Given the description of an element on the screen output the (x, y) to click on. 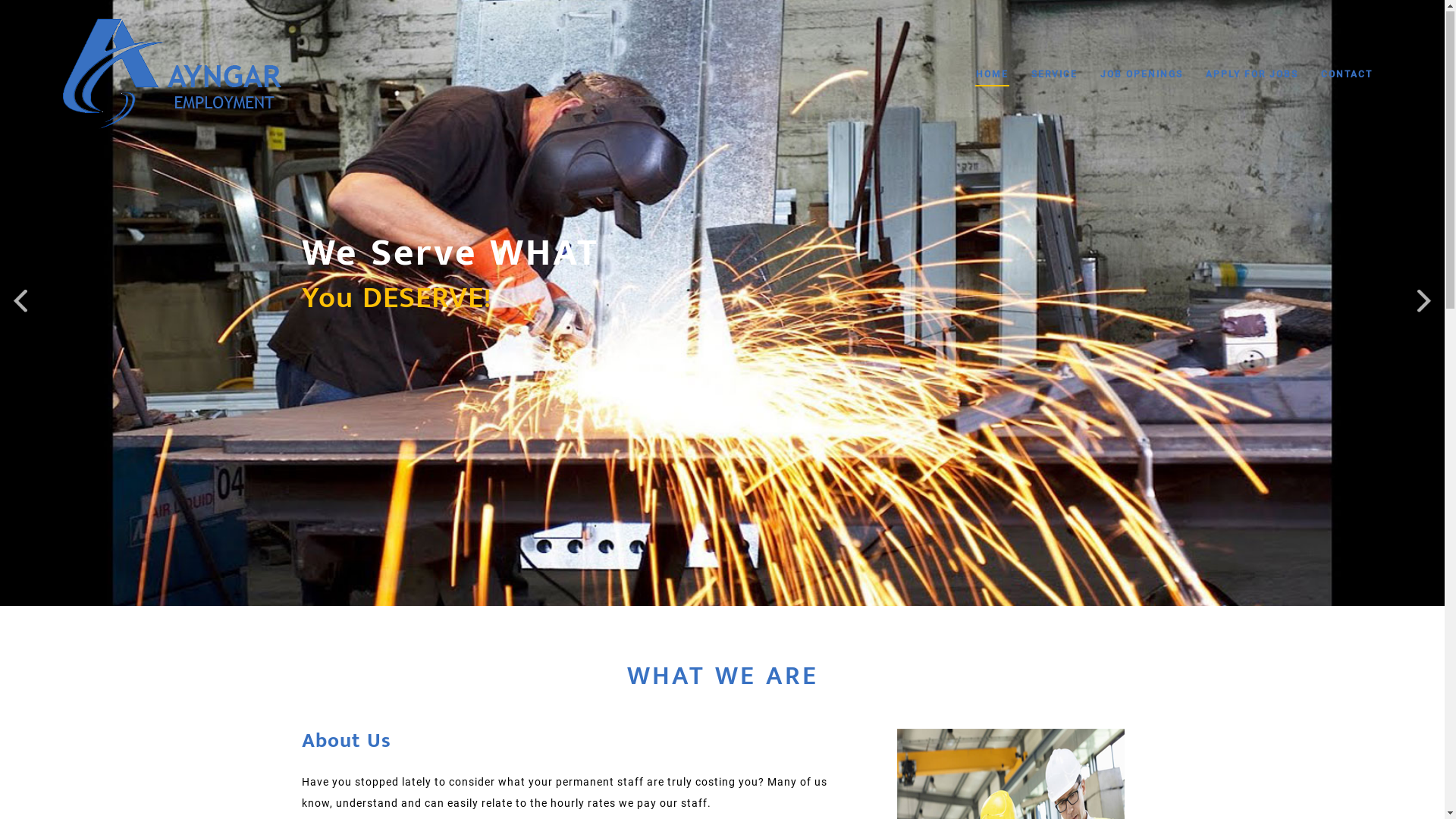
CONTACT Element type: text (1346, 75)
JOB OPENINGS Element type: text (1141, 75)
HOME
(CURRENT) Element type: text (992, 75)
APPLY FOR JOBS Element type: text (1251, 75)
Previous Element type: text (20, 307)
Next Element type: text (1424, 307)
SERVICE Element type: text (1054, 75)
